Given the description of an element on the screen output the (x, y) to click on. 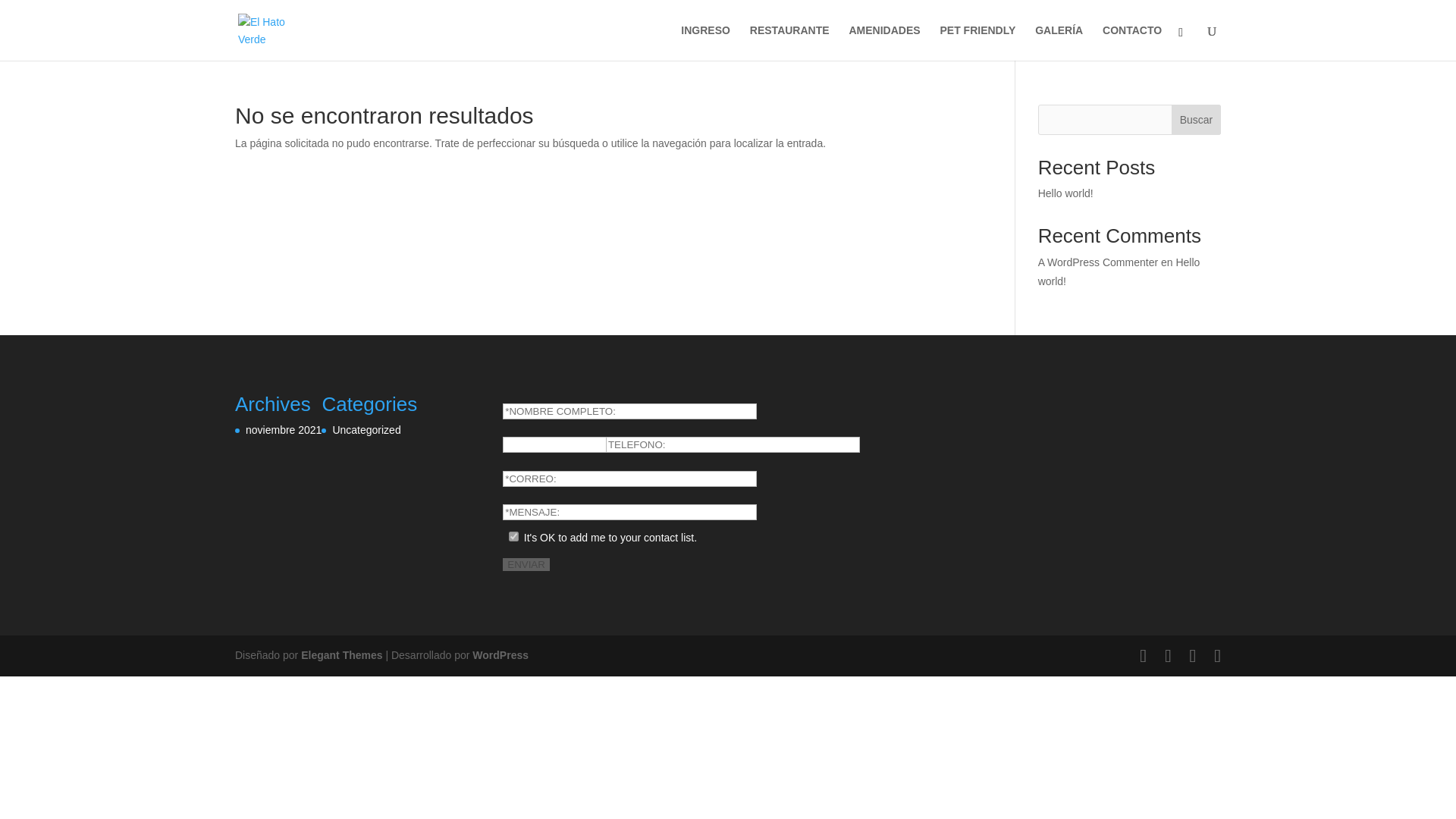
WordPress (499, 654)
Hello world! (1065, 193)
CONTACTO (1131, 42)
Uncategorized (365, 429)
RESTAURANTE (789, 42)
Buscar (1196, 119)
1 (513, 536)
Elegant Themes (341, 654)
ENVIAR (526, 563)
ENVIAR (526, 563)
